Given the description of an element on the screen output the (x, y) to click on. 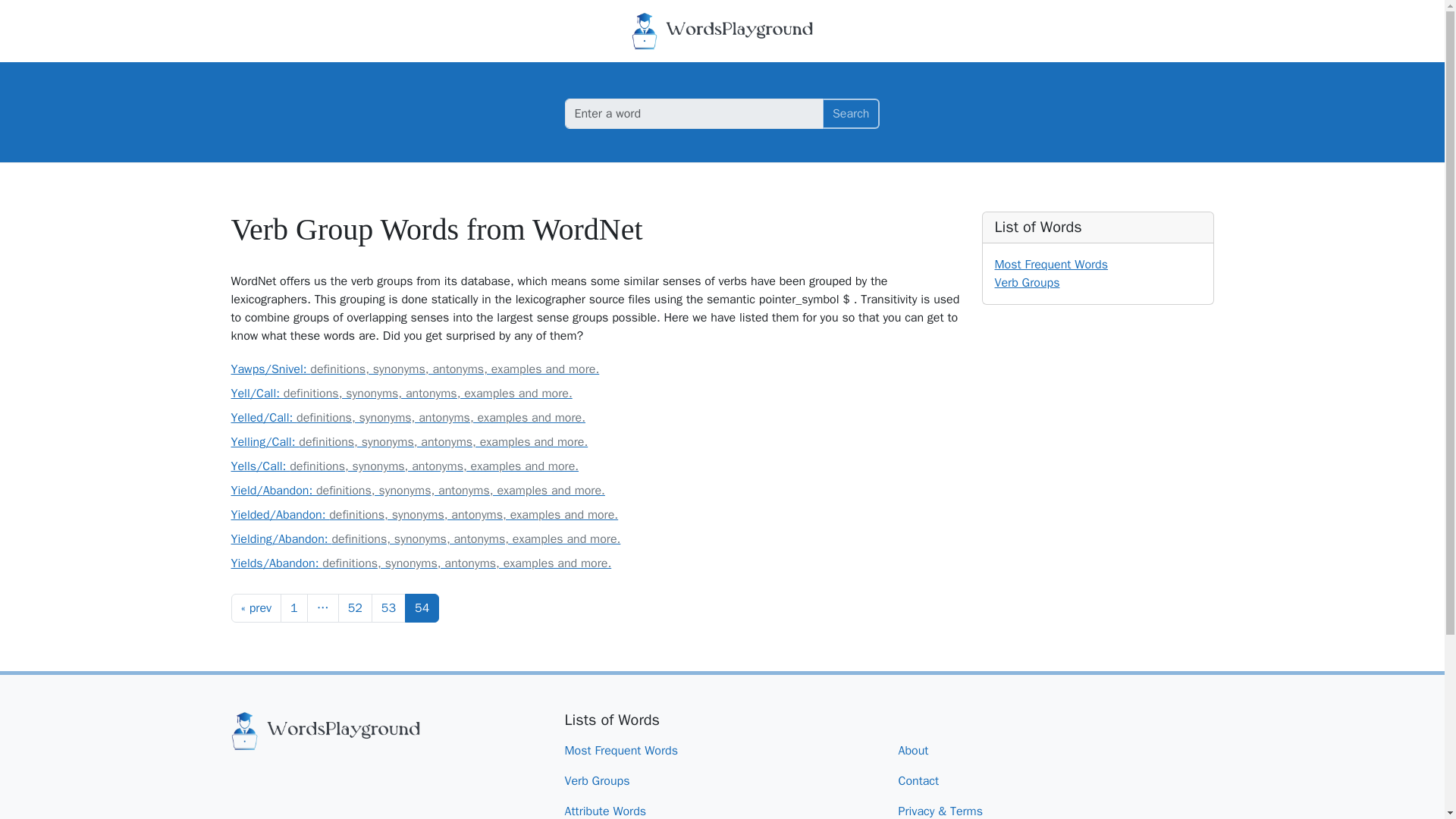
About (919, 750)
53 (388, 607)
Verb Groups (1026, 282)
1 (294, 607)
Contact (924, 780)
Search (851, 113)
Most Frequent Words (1051, 264)
Attribute Words (611, 807)
Most Frequent Words (627, 750)
Verb Groups (603, 780)
